Given the description of an element on the screen output the (x, y) to click on. 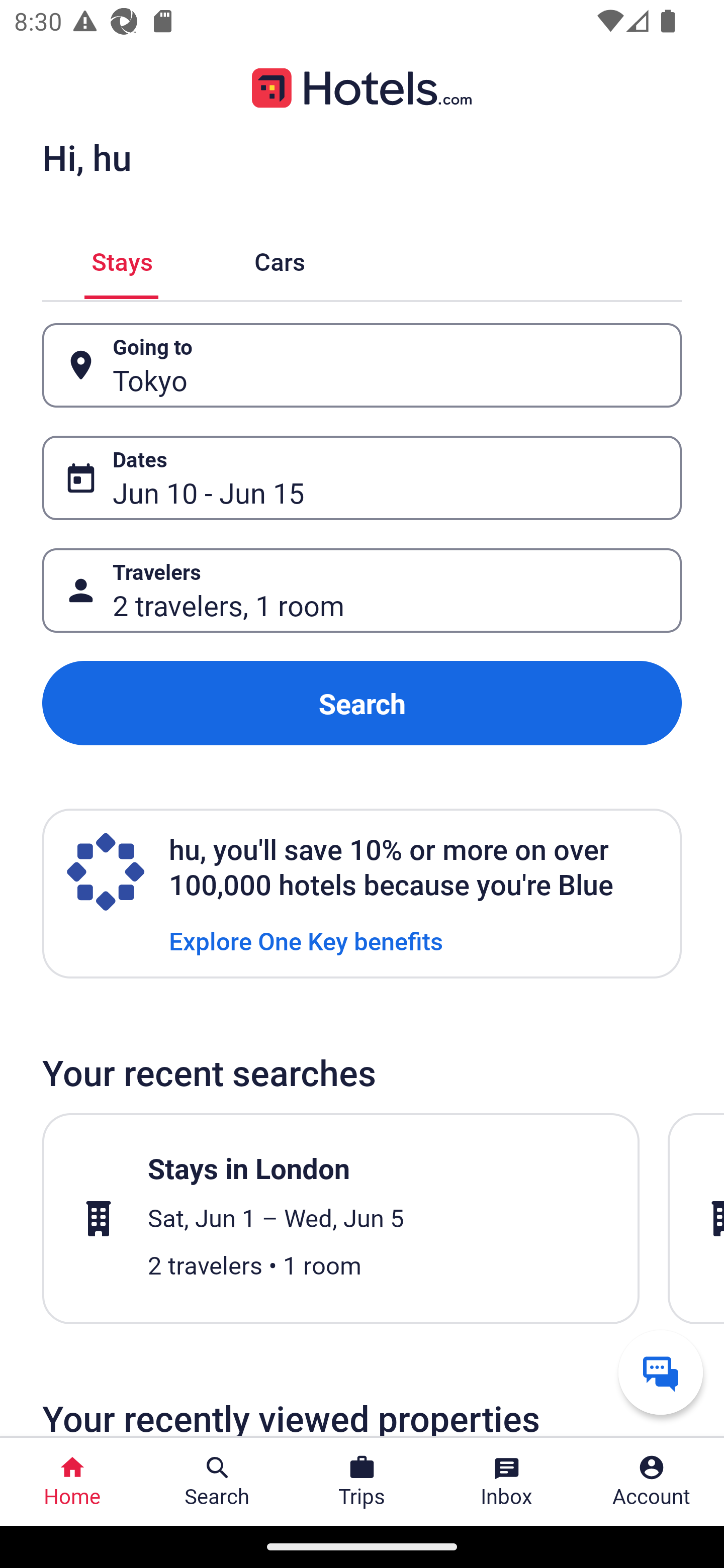
Hi, hu (86, 156)
Cars (279, 259)
Going to Button Tokyo (361, 365)
Dates Button Jun 10 - Jun 15 (361, 477)
Travelers Button 2 travelers, 1 room (361, 590)
Search (361, 702)
Get help from a virtual agent (660, 1371)
Search Search Button (216, 1481)
Trips Trips Button (361, 1481)
Inbox Inbox Button (506, 1481)
Account Profile. Button (651, 1481)
